Given the description of an element on the screen output the (x, y) to click on. 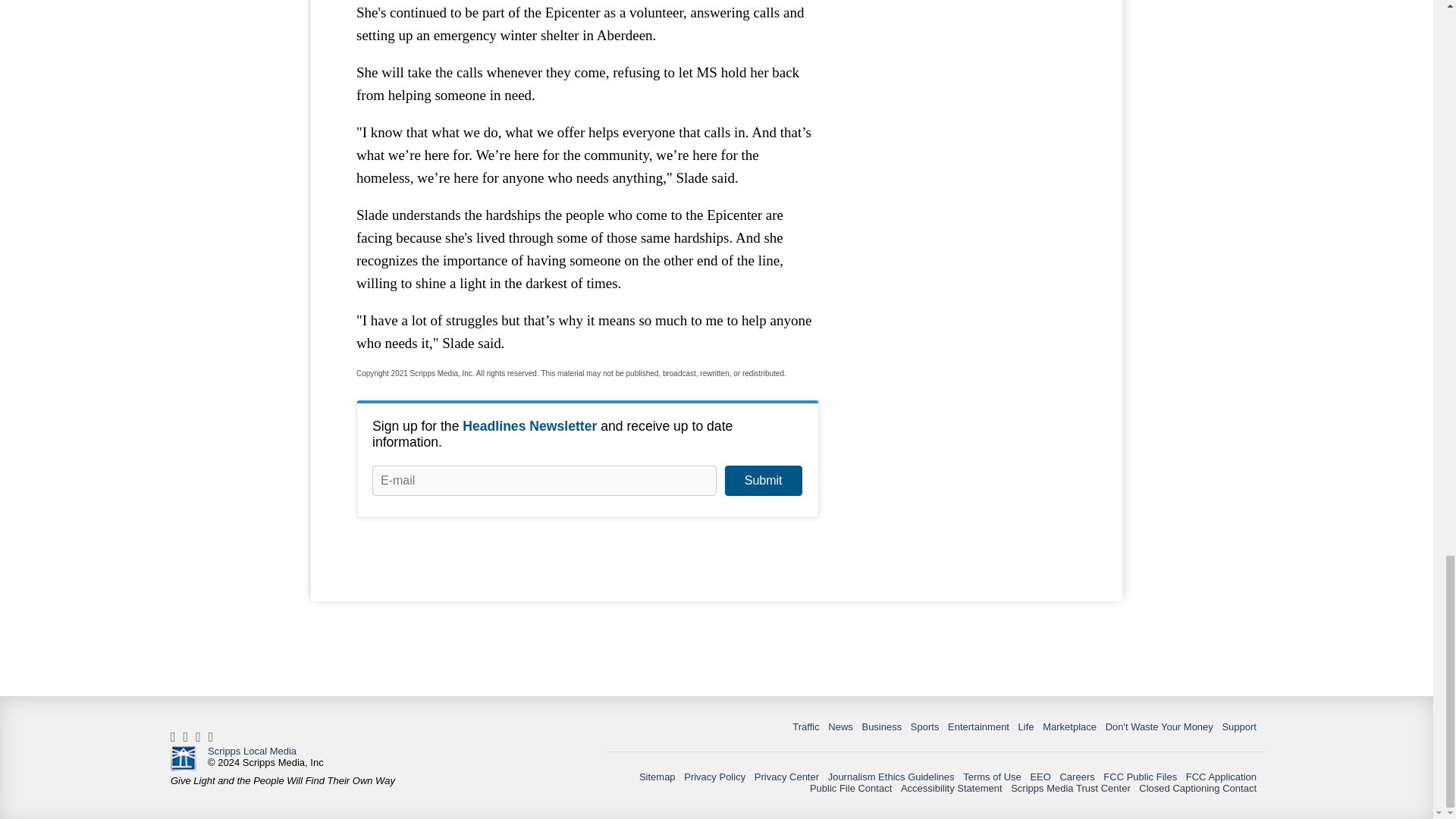
Submit (763, 481)
